Given the description of an element on the screen output the (x, y) to click on. 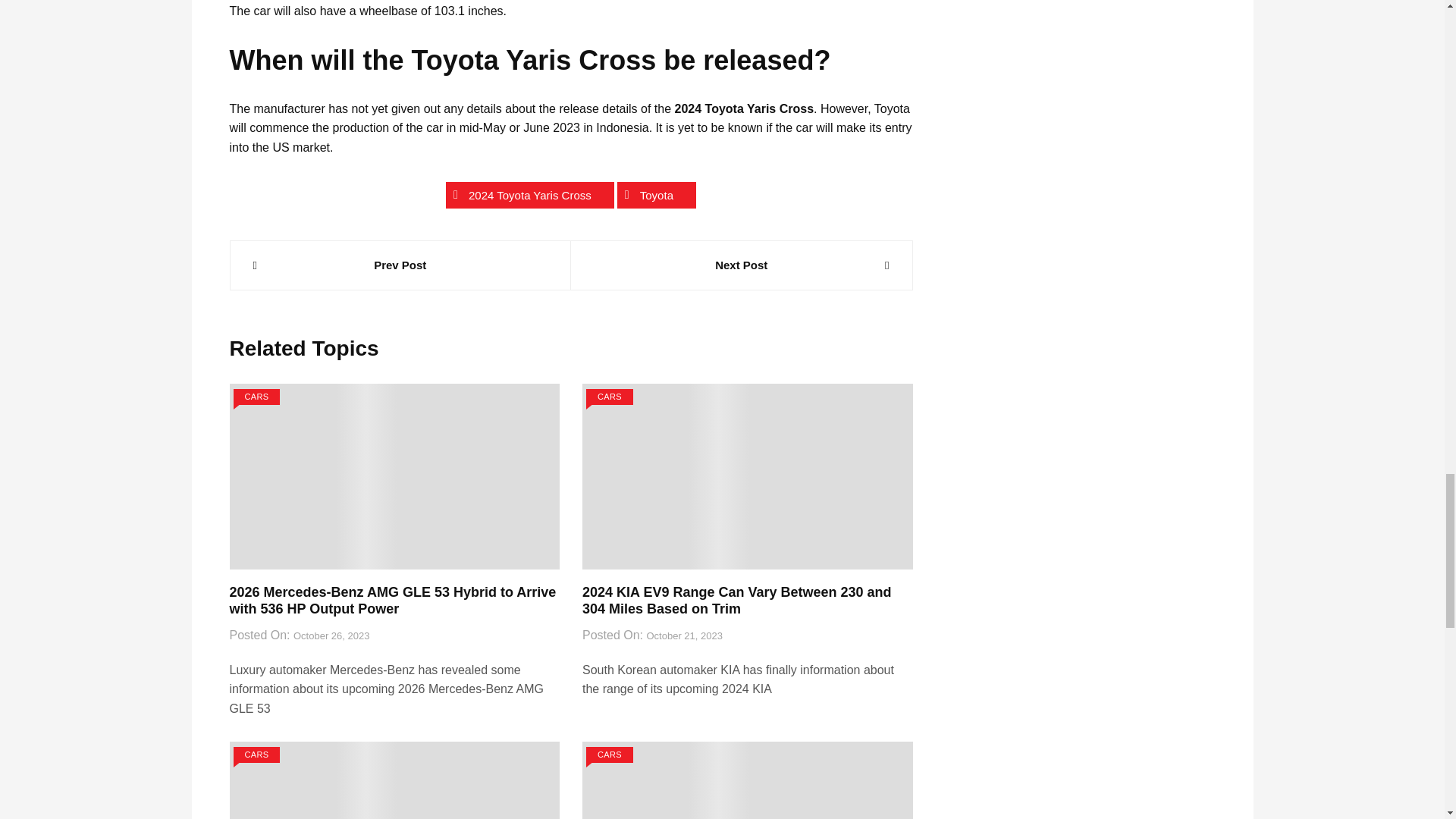
Next Post (741, 265)
CARS (609, 396)
Prev Post (400, 265)
October 21, 2023 (684, 636)
October 26, 2023 (331, 636)
Toyota (656, 194)
CARS (256, 396)
2024 Toyota Yaris Cross (529, 194)
